Given the description of an element on the screen output the (x, y) to click on. 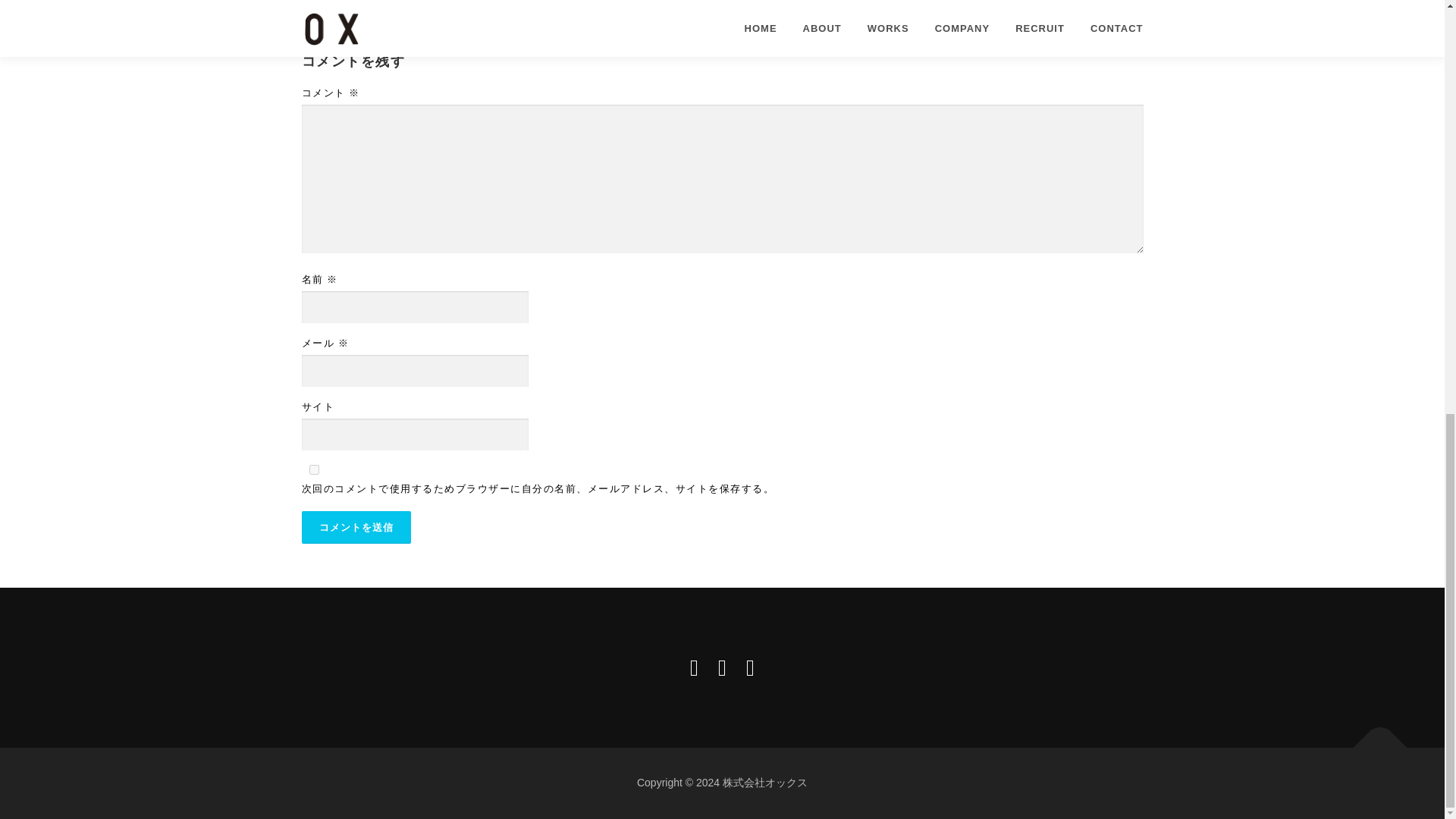
yes (313, 470)
